Given the description of an element on the screen output the (x, y) to click on. 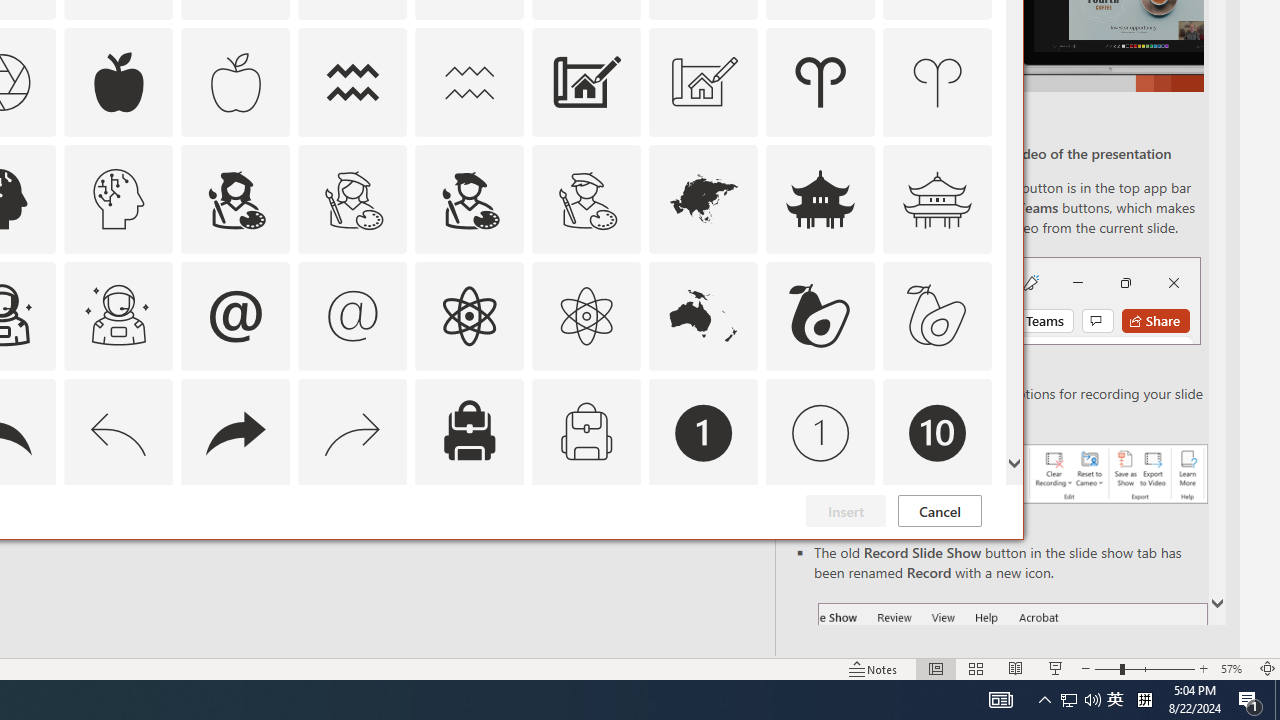
AutomationID: Icons_AsianTemple (820, 198)
AutomationID: Icons_Atom_M (586, 316)
AutomationID: Icons_Back_LTR_M (118, 432)
AutomationID: Icons_AsianTemple_M (938, 198)
AutomationID: Icons_ArtistFemale (235, 198)
AutomationID: Icons_Architecture (586, 82)
AutomationID: Icons_Badge6_M (235, 550)
